Given the description of an element on the screen output the (x, y) to click on. 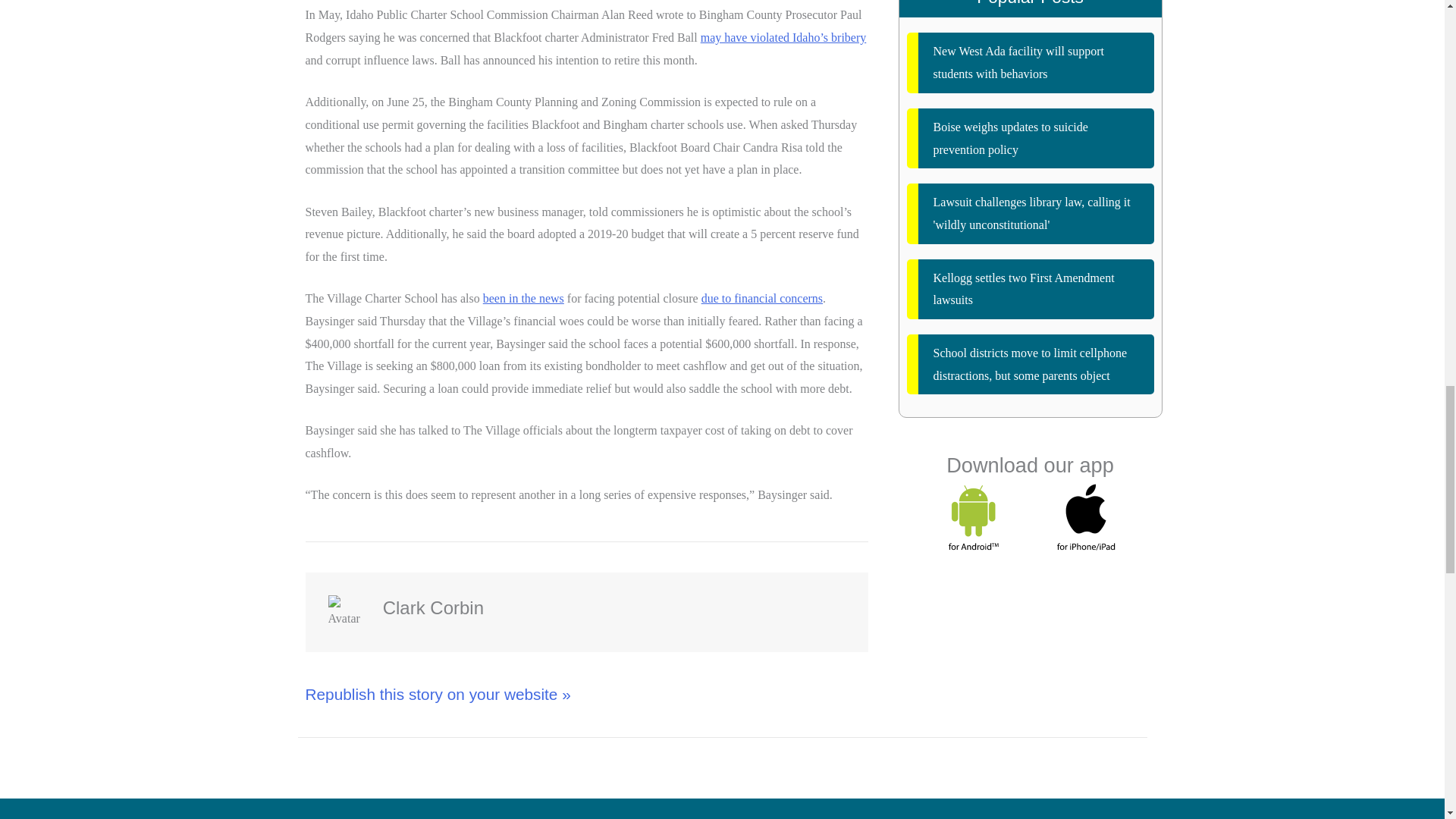
due to financial concerns (761, 297)
been in the news (523, 297)
New West Ada facility will support students with behaviors (1030, 62)
Kellogg settles two First Amendment lawsuits (1030, 289)
Boise weighs updates to suicide prevention policy (1030, 138)
